Given the description of an element on the screen output the (x, y) to click on. 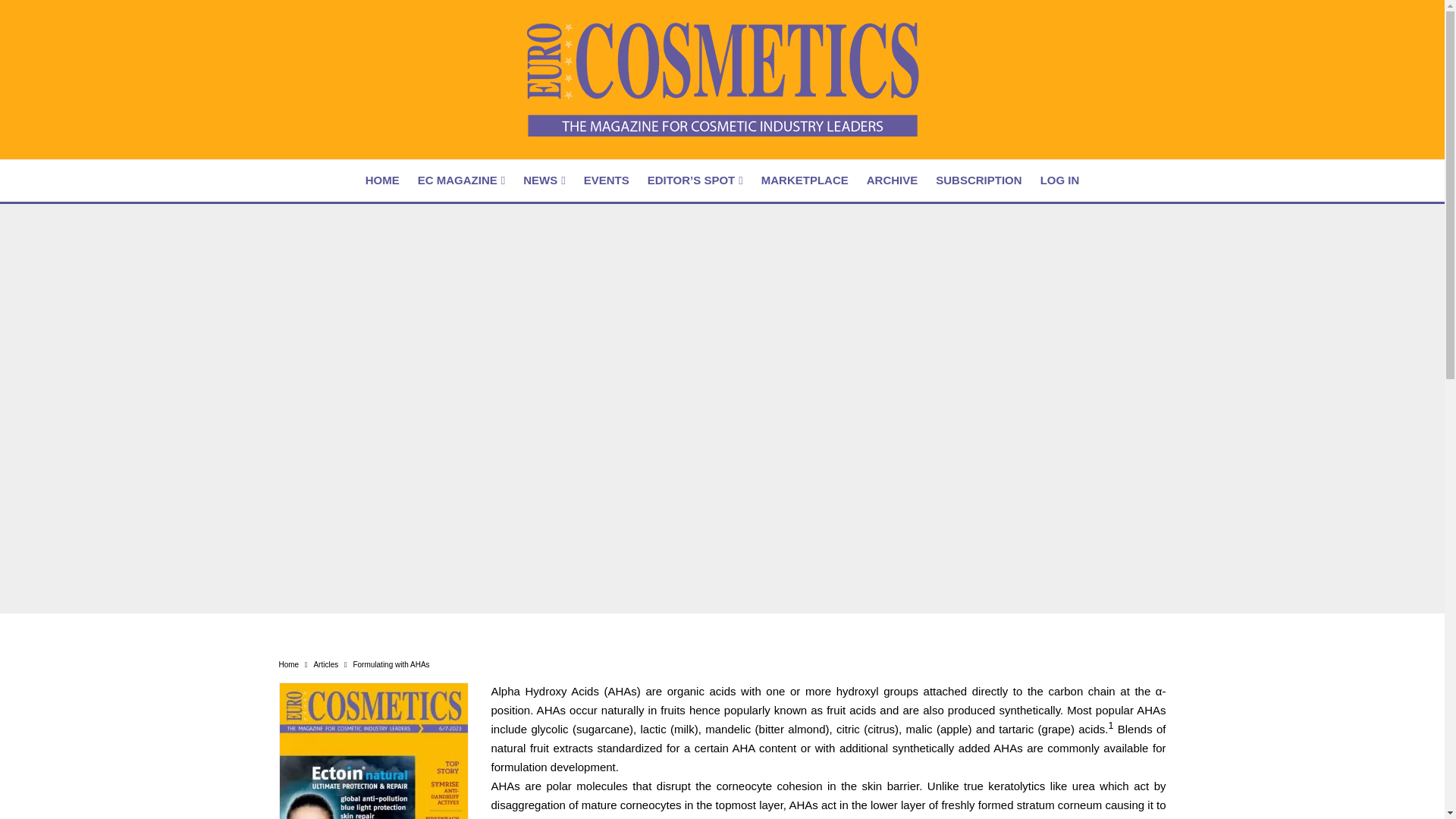
EC MAGAZINE (461, 180)
LOG IN (1059, 180)
Home (289, 664)
HOME (382, 180)
Articles (325, 664)
MARKETPLACE (804, 180)
NEWS (543, 180)
ARCHIVE (892, 180)
EVENTS (607, 180)
SUBSCRIPTION (978, 180)
